Given the description of an element on the screen output the (x, y) to click on. 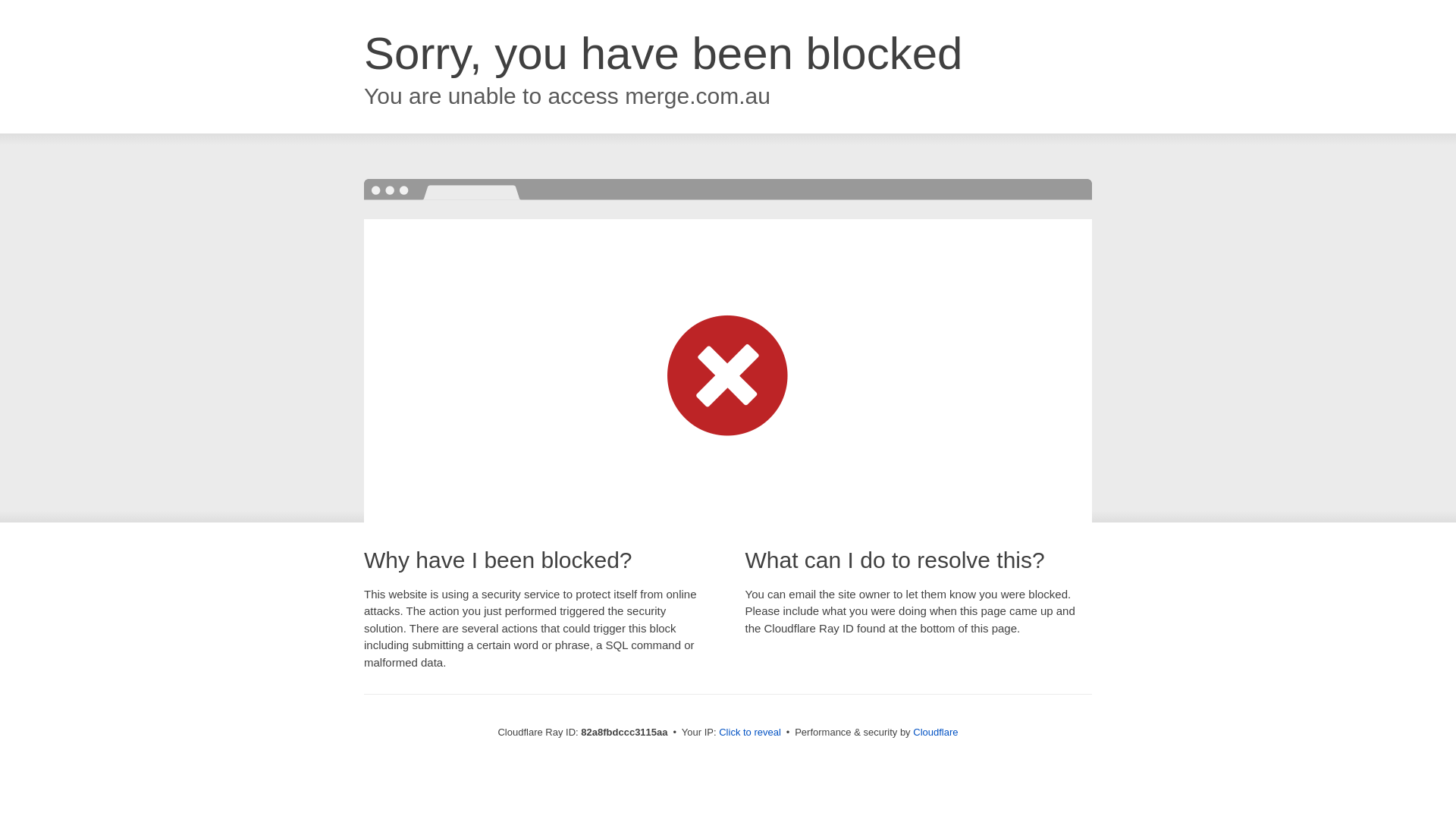
Cloudflare Element type: text (935, 731)
Click to reveal Element type: text (749, 732)
